Given the description of an element on the screen output the (x, y) to click on. 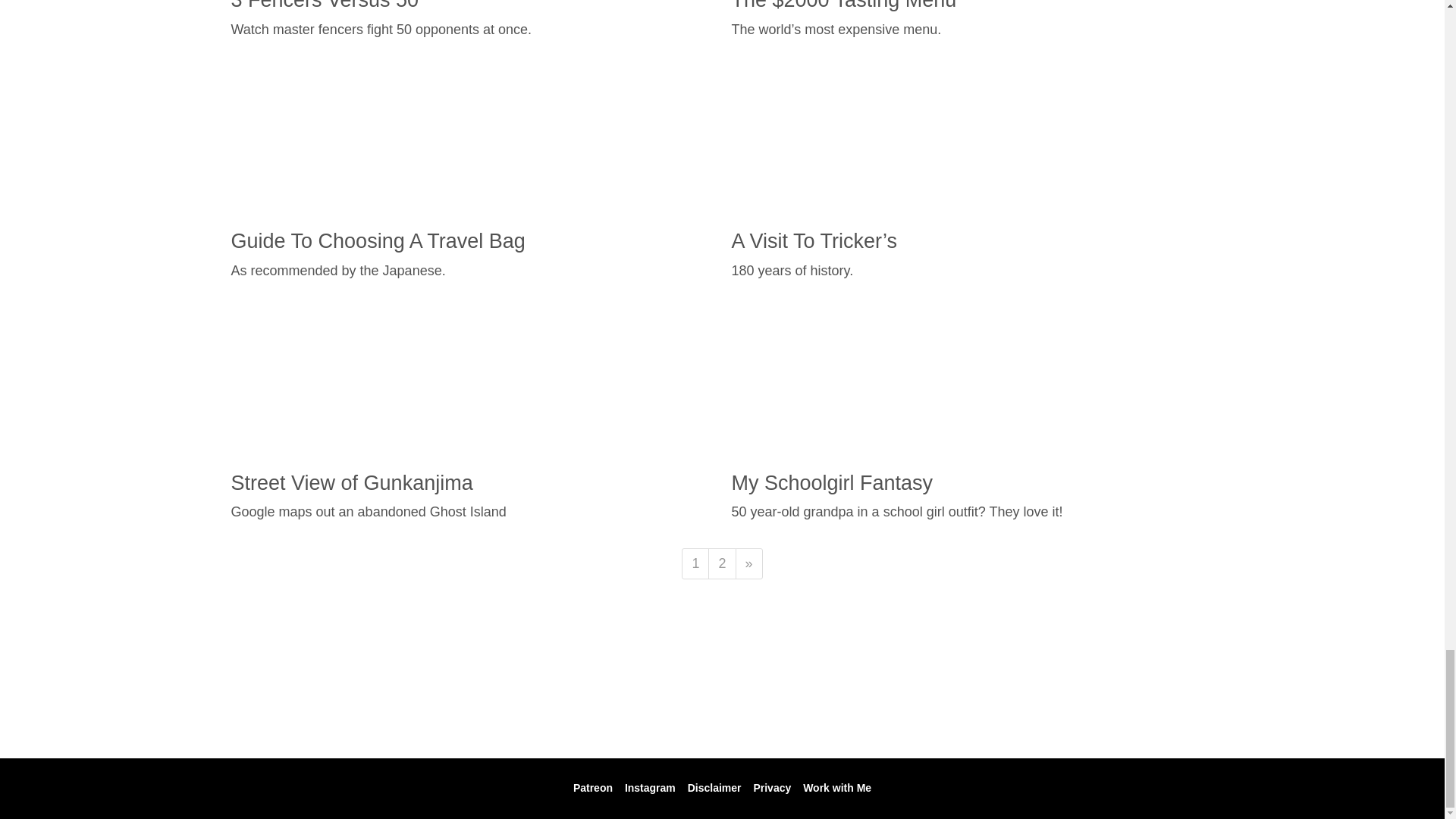
Support me on Patreon (592, 787)
